Given the description of an element on the screen output the (x, y) to click on. 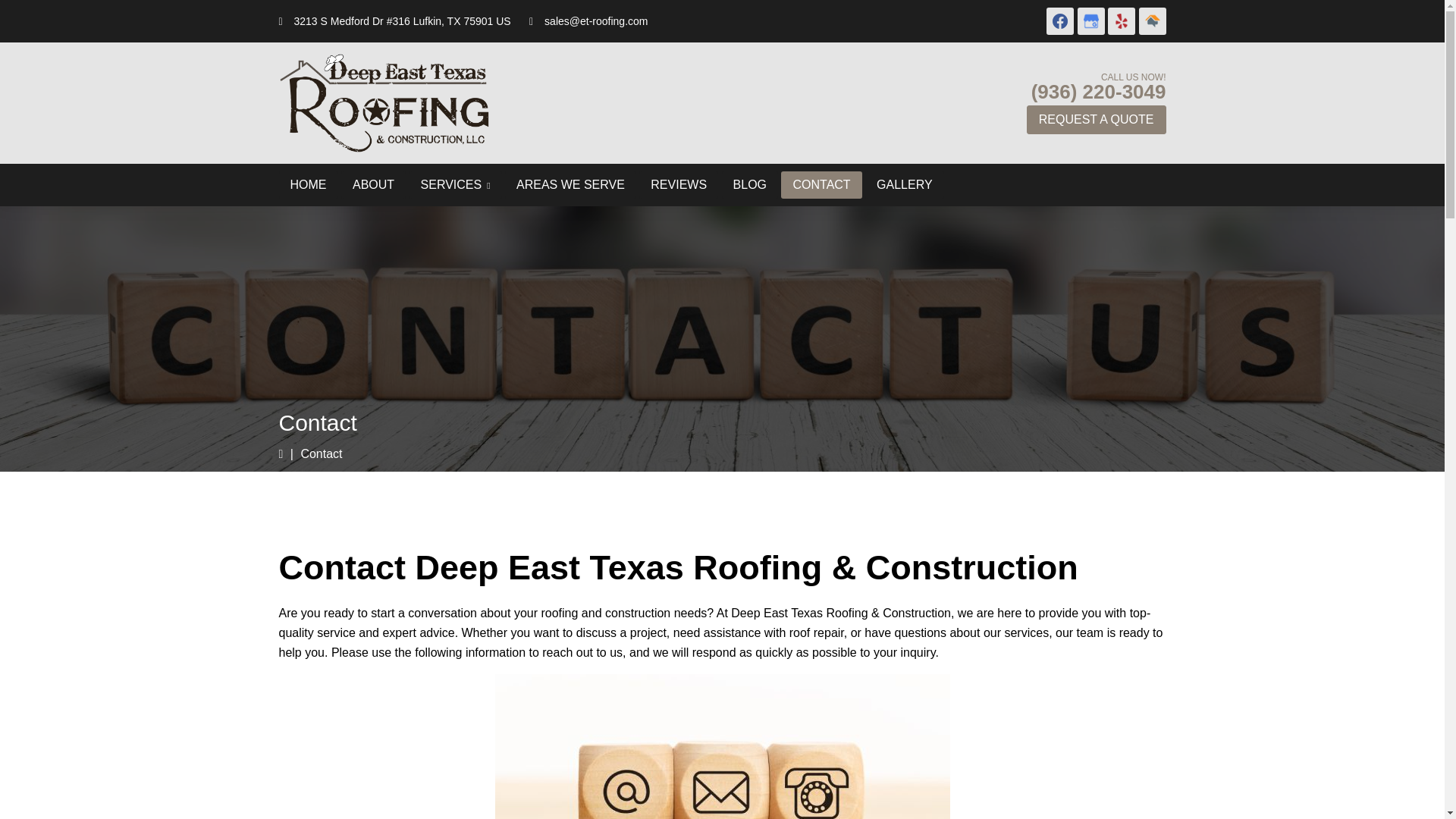
GALLERY (903, 185)
Home Advisor (1152, 21)
REVIEWS (678, 185)
BLOG (749, 185)
CONTACT (820, 185)
Google Business Profile (1091, 21)
Facebook (1060, 21)
SERVICES (455, 185)
Yelp (1121, 21)
AREAS WE SERVE (570, 185)
ABOUT (373, 185)
Contact Us (722, 746)
HOME (308, 185)
REQUEST A QUOTE (1096, 118)
